Given the description of an element on the screen output the (x, y) to click on. 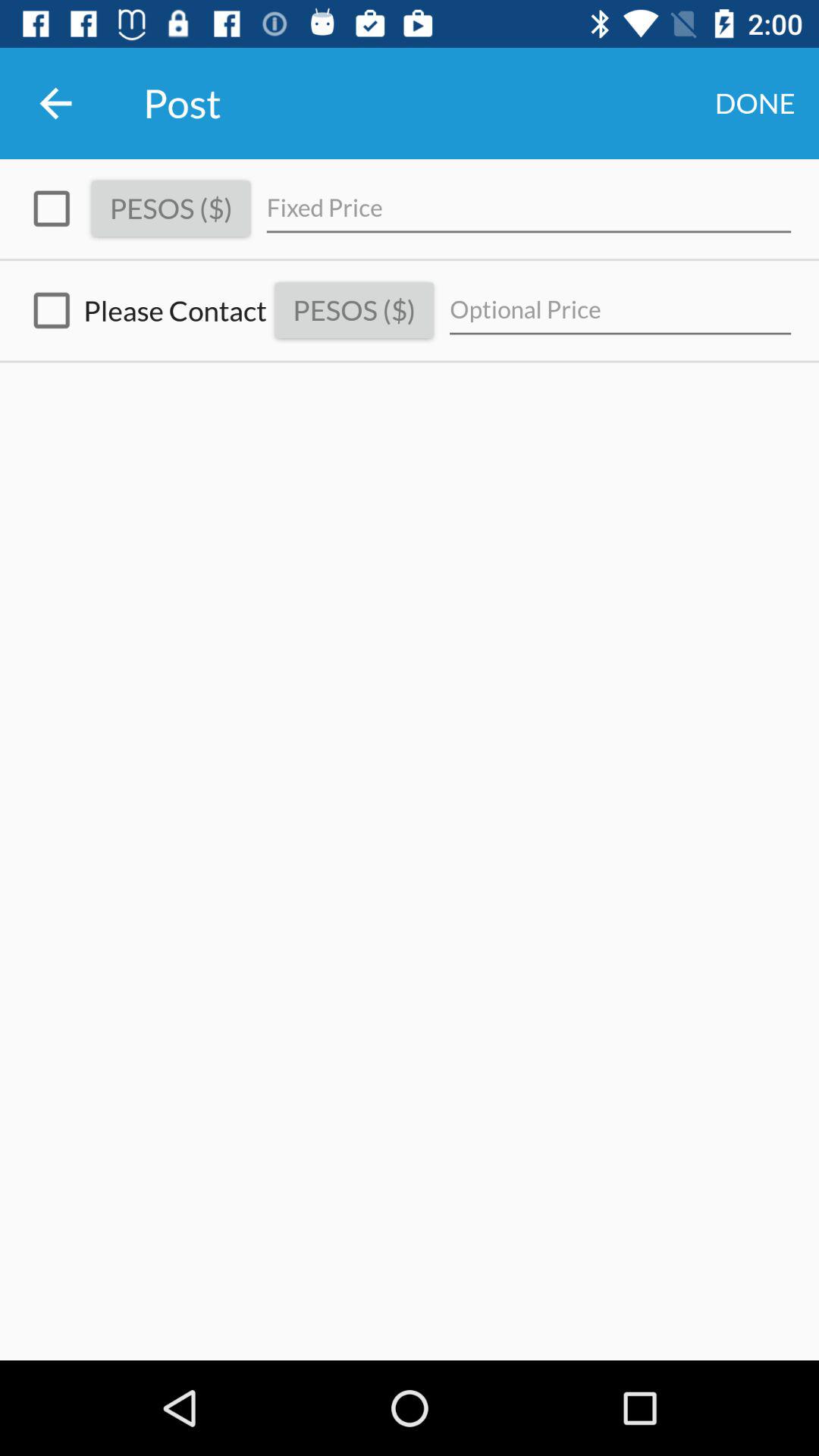
enter fixed price (528, 208)
